Given the description of an element on the screen output the (x, y) to click on. 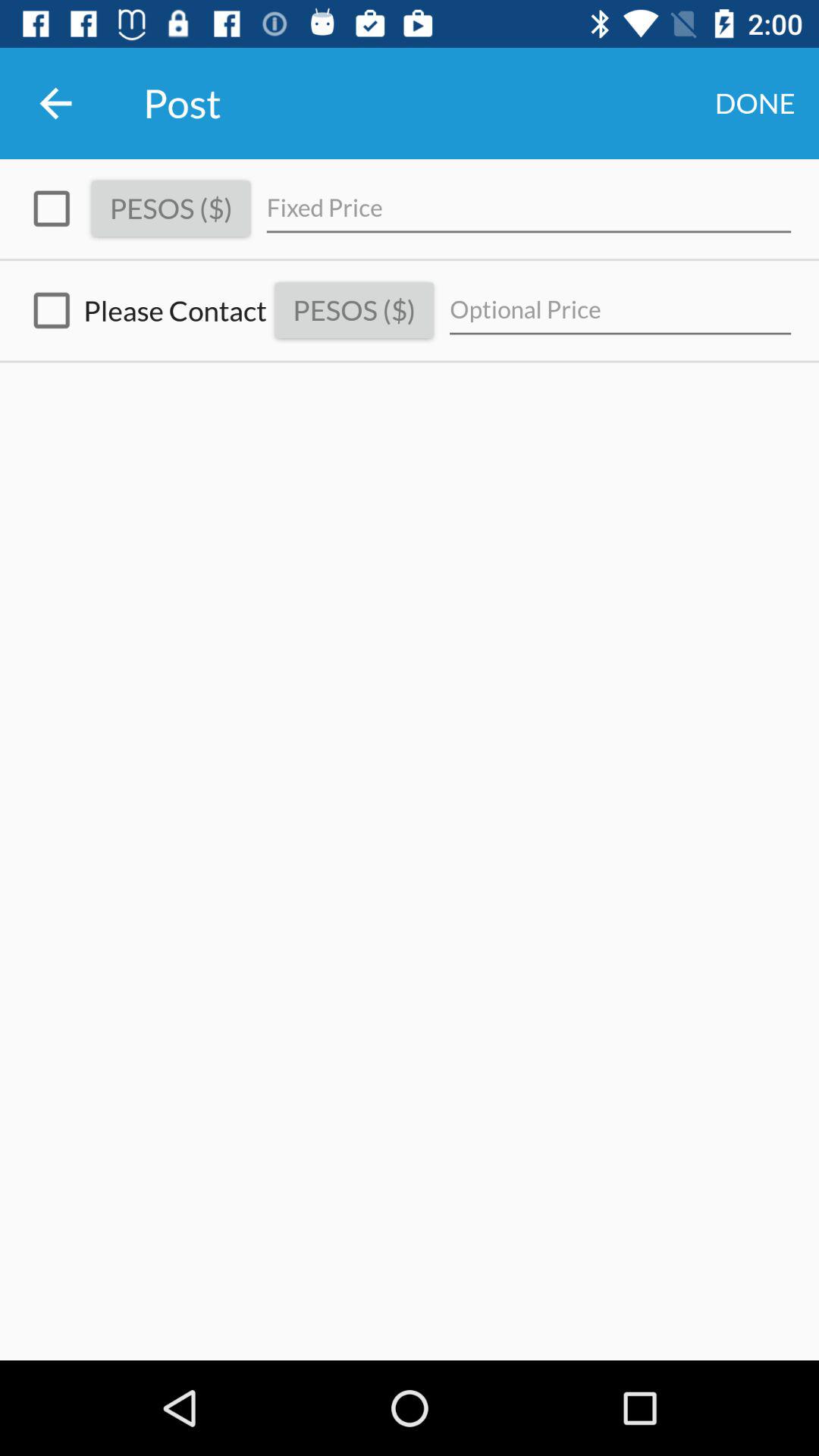
enter fixed price (528, 208)
